Given the description of an element on the screen output the (x, y) to click on. 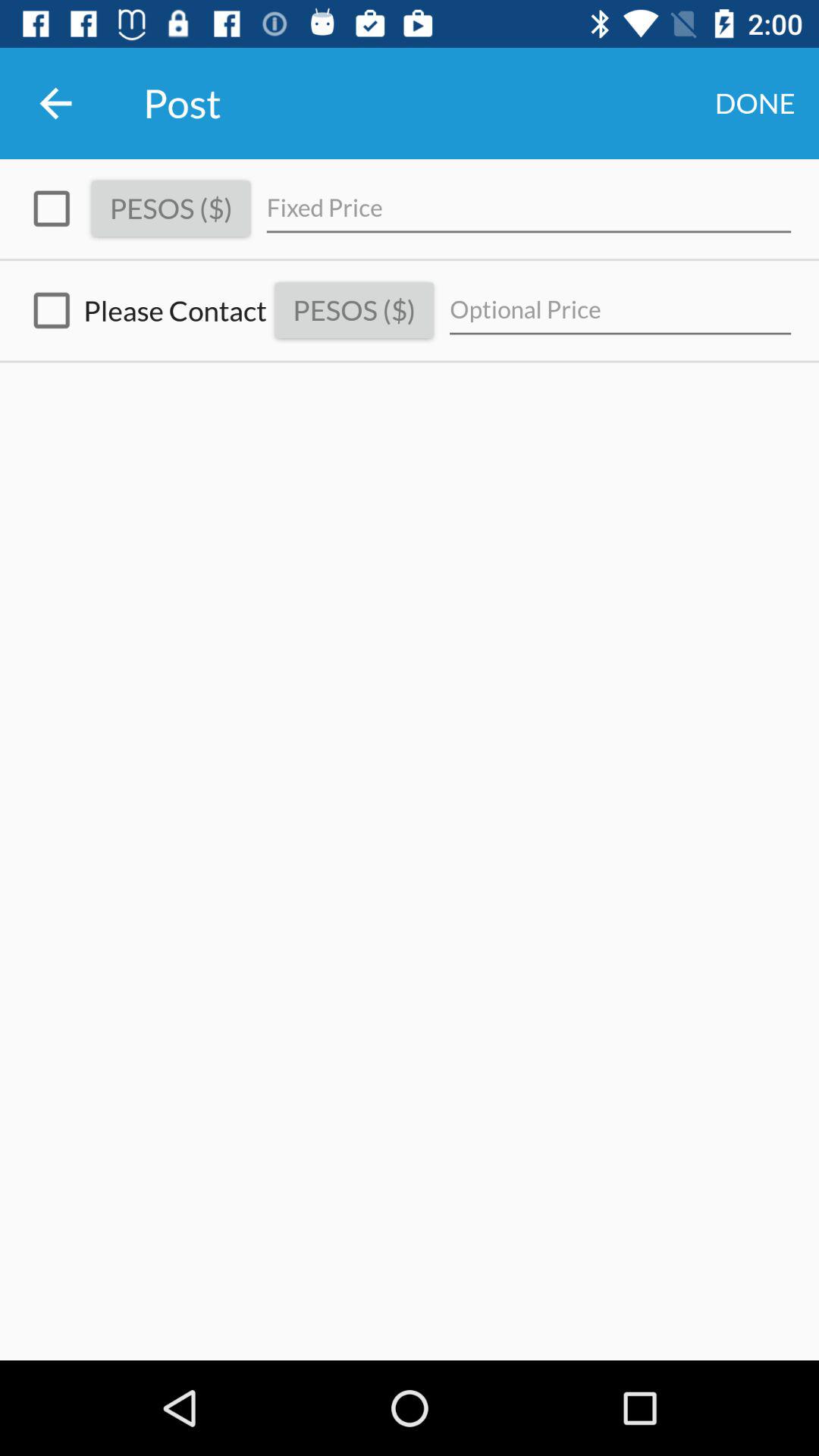
enter fixed price (528, 208)
